Given the description of an element on the screen output the (x, y) to click on. 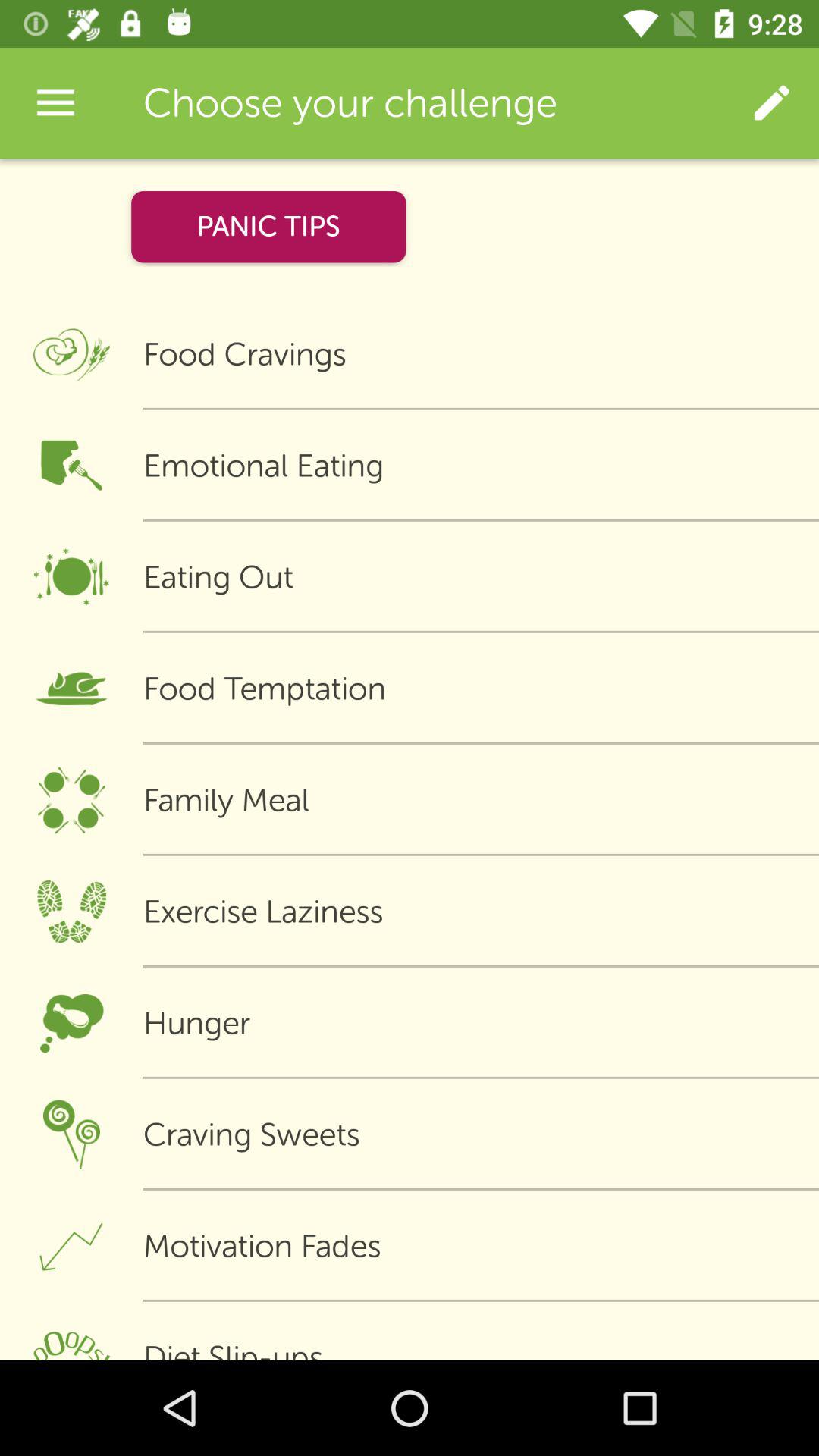
open the item below choose your challenge item (268, 226)
